Given the description of an element on the screen output the (x, y) to click on. 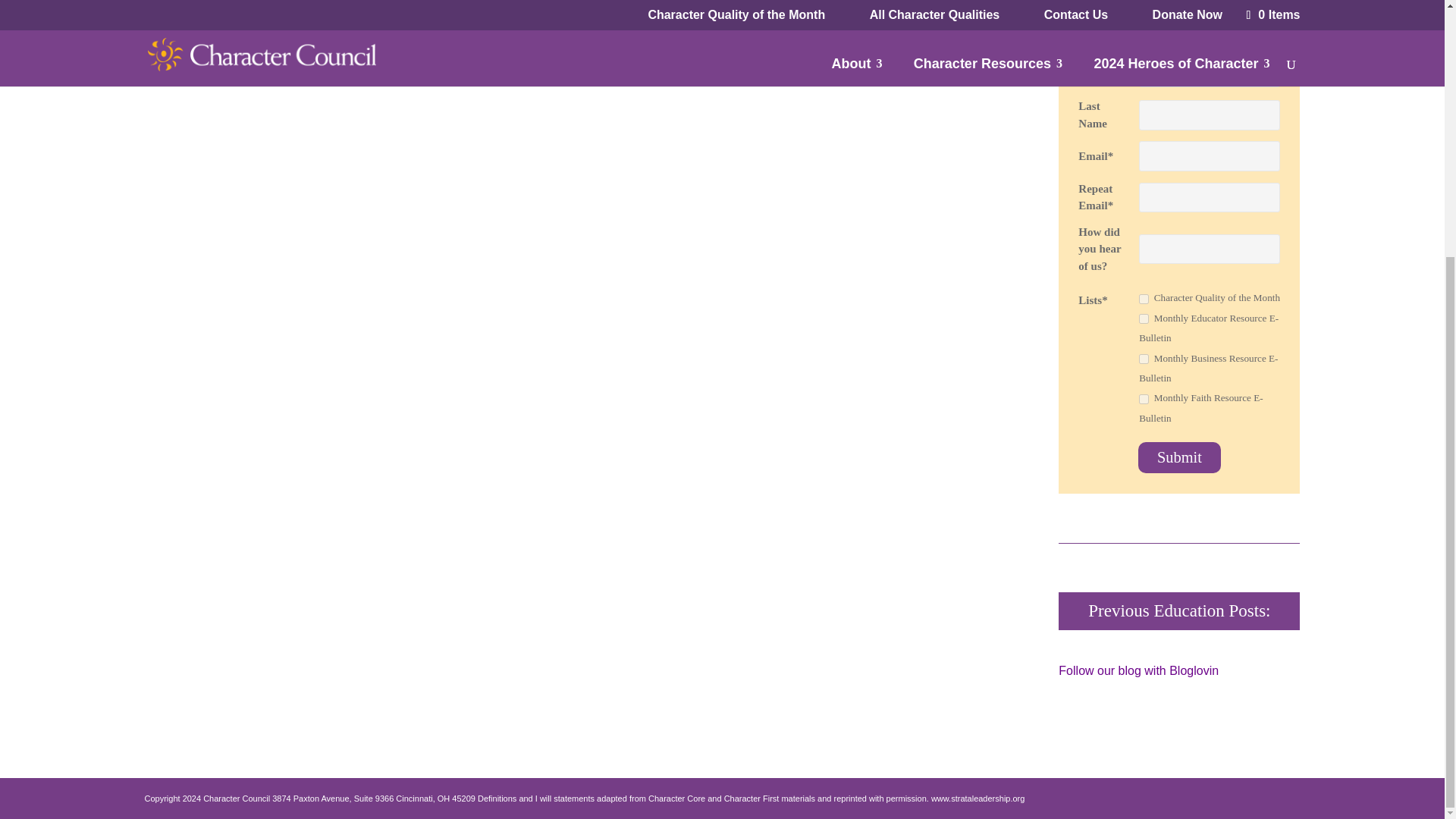
Submit (1179, 457)
116540 (1143, 358)
116539 (1143, 318)
12431 (1143, 298)
116541 (1143, 398)
